Given the description of an element on the screen output the (x, y) to click on. 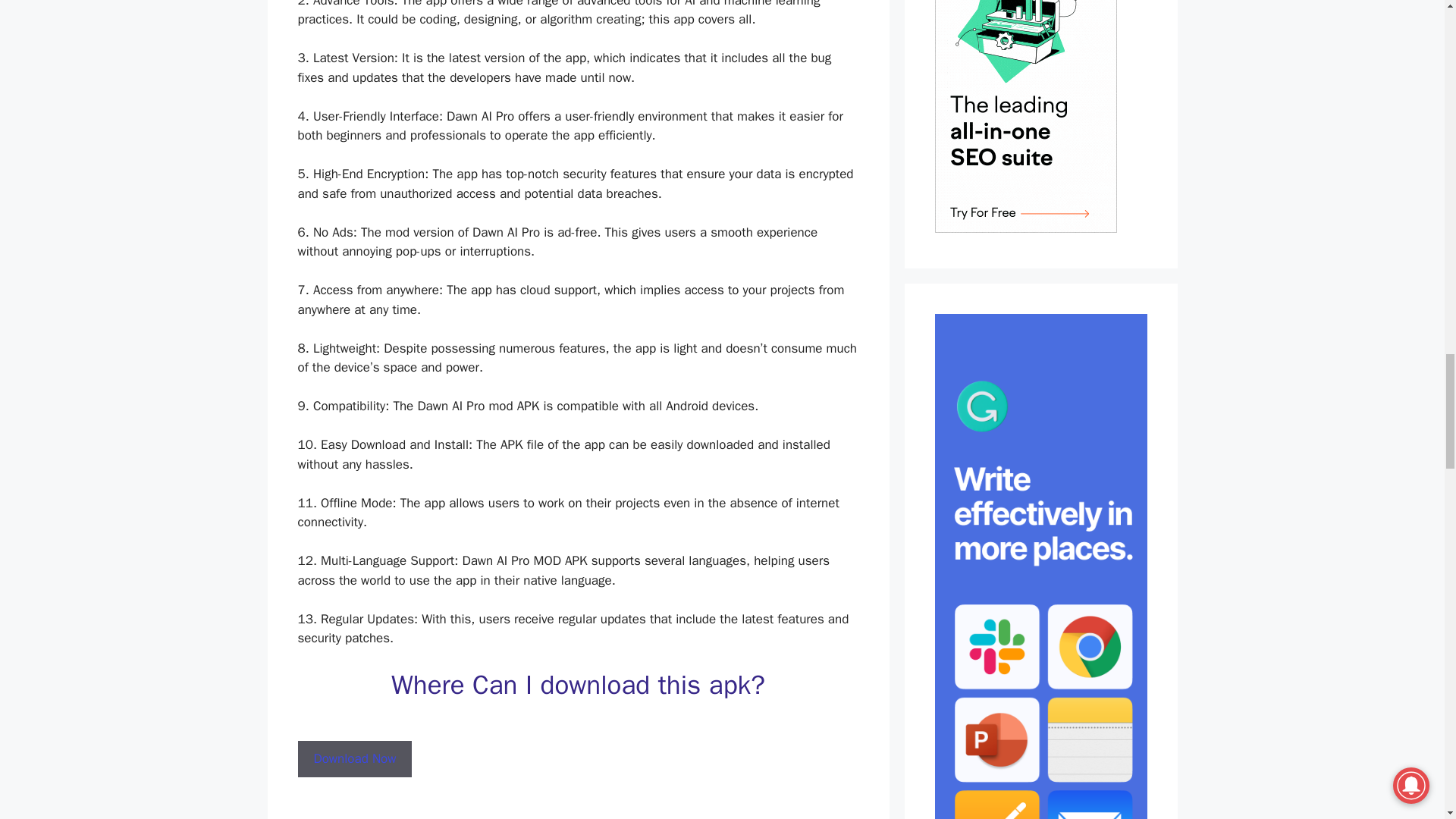
Download Now (354, 759)
Download Now (355, 758)
